Given the description of an element on the screen output the (x, y) to click on. 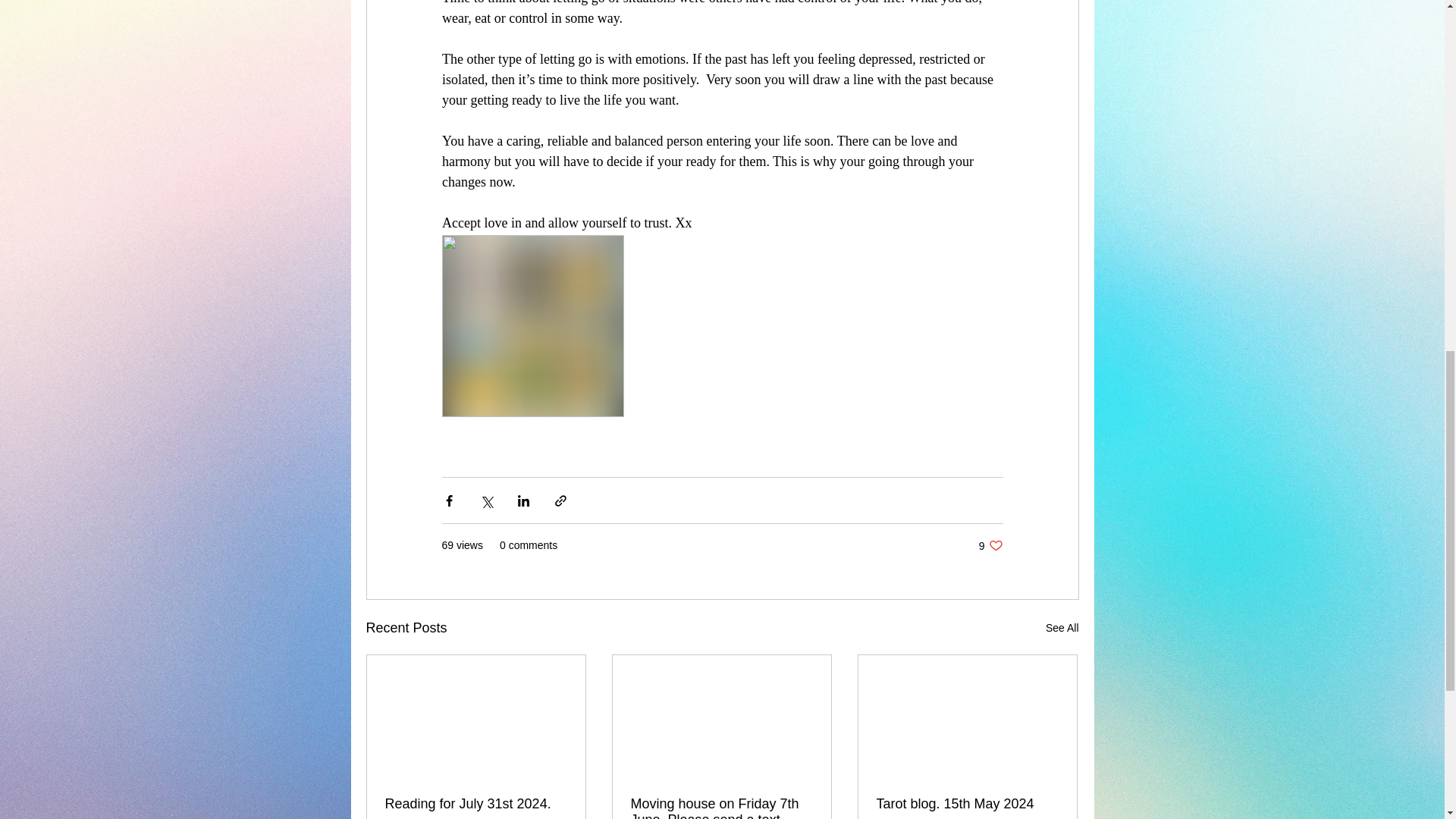
Tarot blog. 15th May 2024 (990, 545)
See All (967, 804)
Reading for July 31st 2024. (1061, 628)
